Given the description of an element on the screen output the (x, y) to click on. 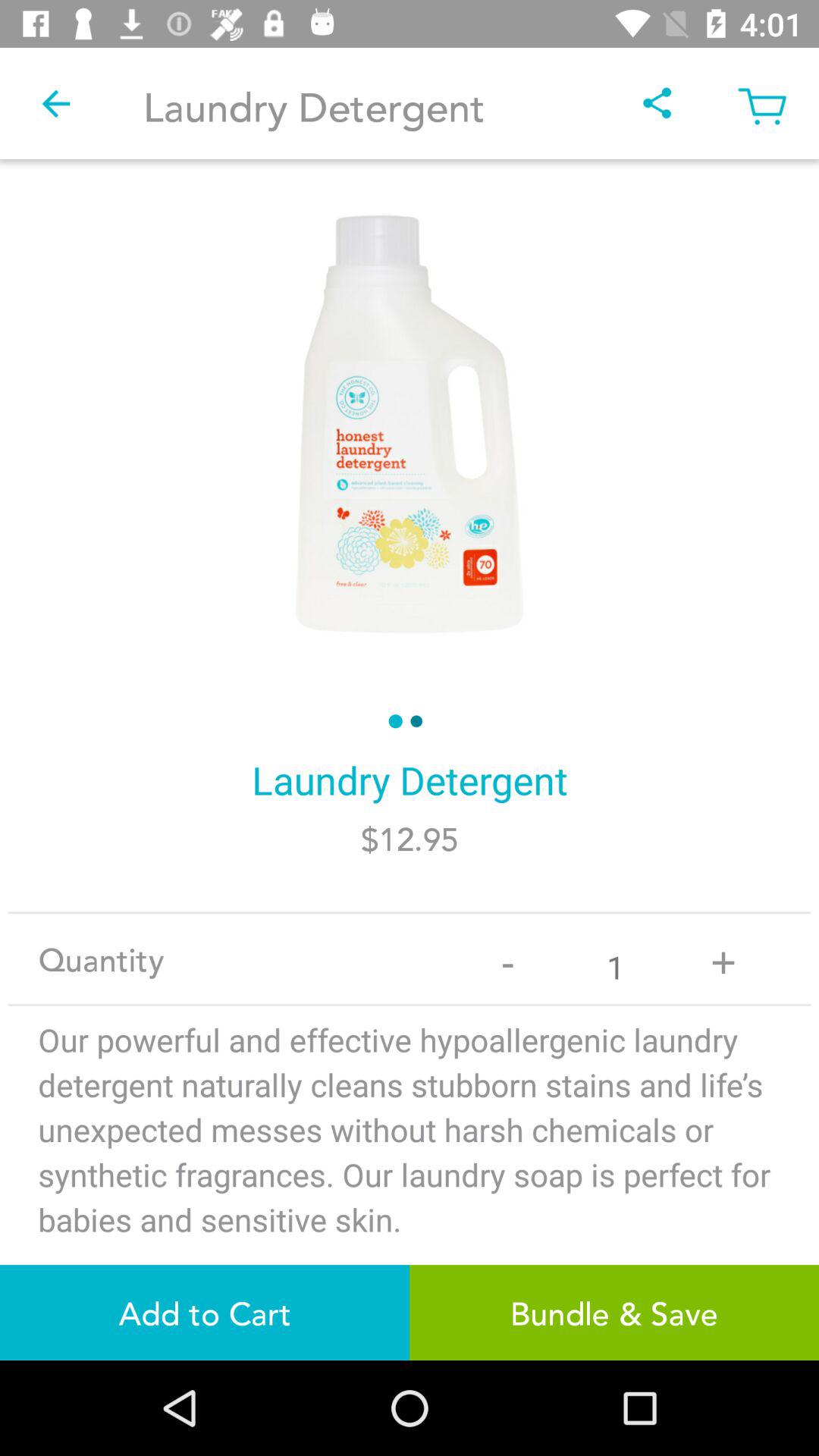
open icon to the right of laundry detergent icon (657, 103)
